Given the description of an element on the screen output the (x, y) to click on. 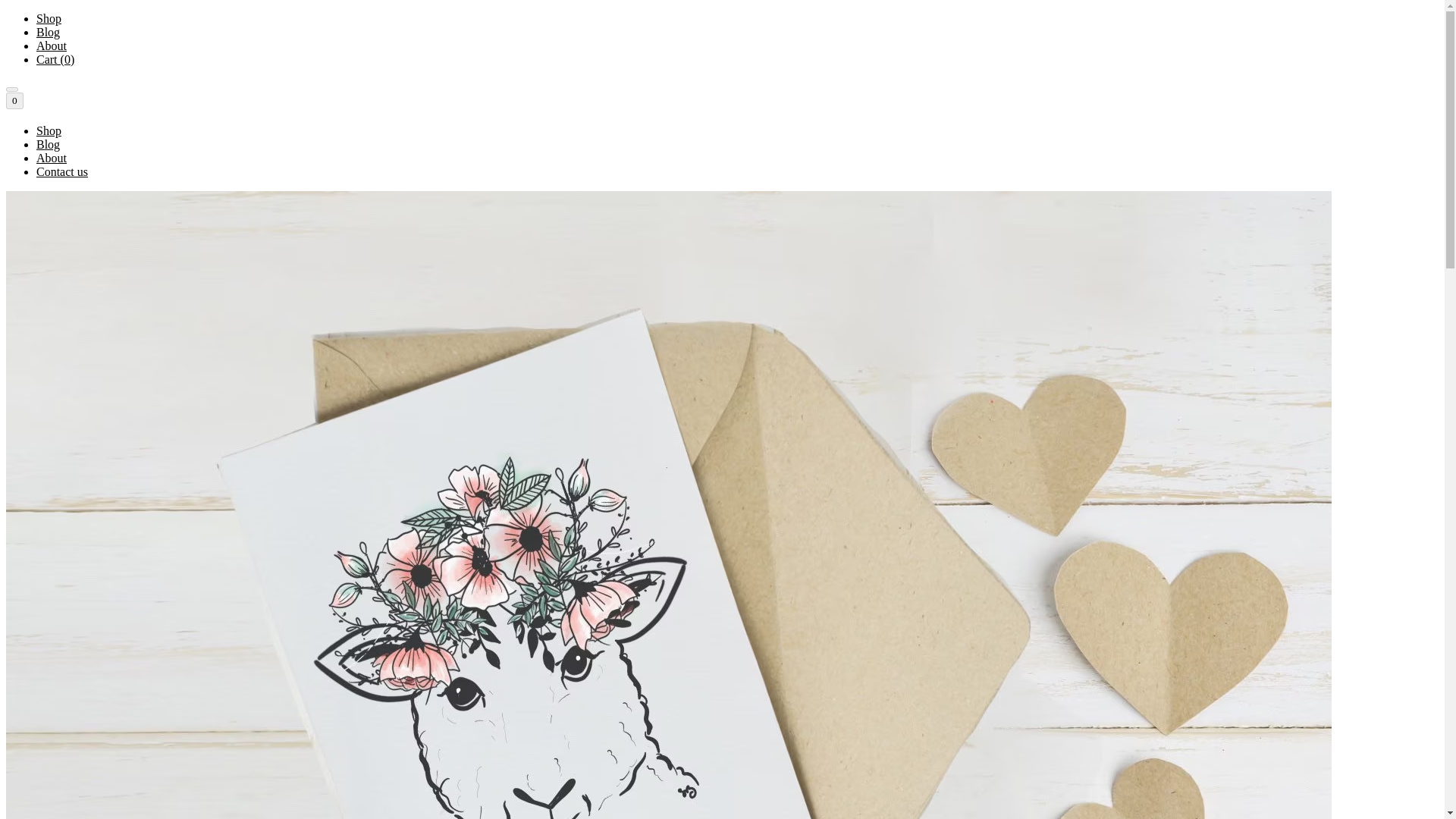
Contact us (61, 171)
Shop (48, 130)
Blog (47, 31)
Blog (47, 144)
About (51, 45)
0 (14, 100)
Shop (48, 18)
About (51, 157)
